Given the description of an element on the screen output the (x, y) to click on. 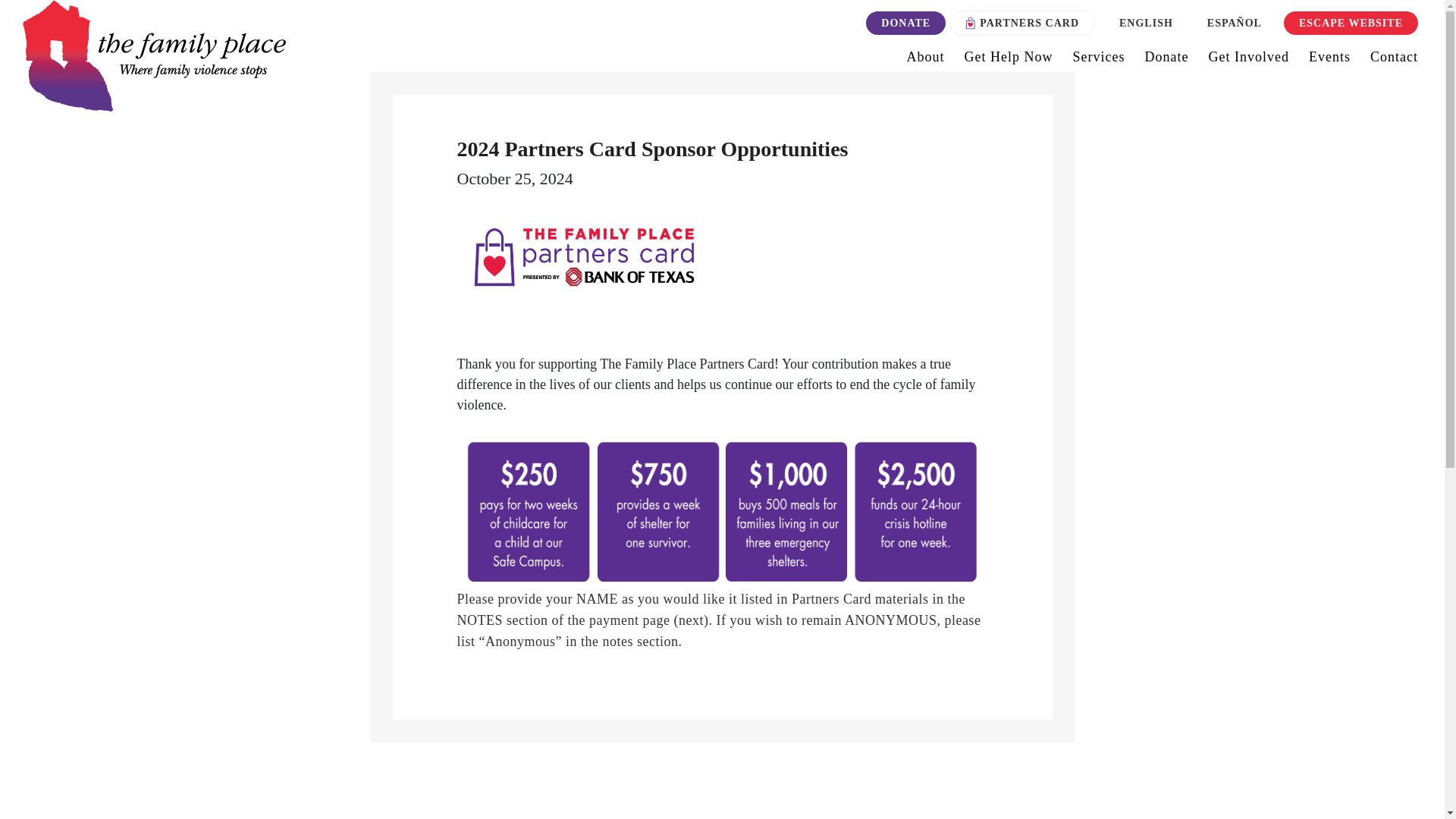
ESCAPE WEBSITE (1351, 23)
Services (1098, 60)
ENGLISH (1145, 23)
Get Involved (1248, 60)
About (925, 60)
PARTNERS CARD (1021, 23)
Donate (1166, 60)
Get Help Now (1008, 60)
the family place (154, 55)
DONATE (905, 23)
